Given the description of an element on the screen output the (x, y) to click on. 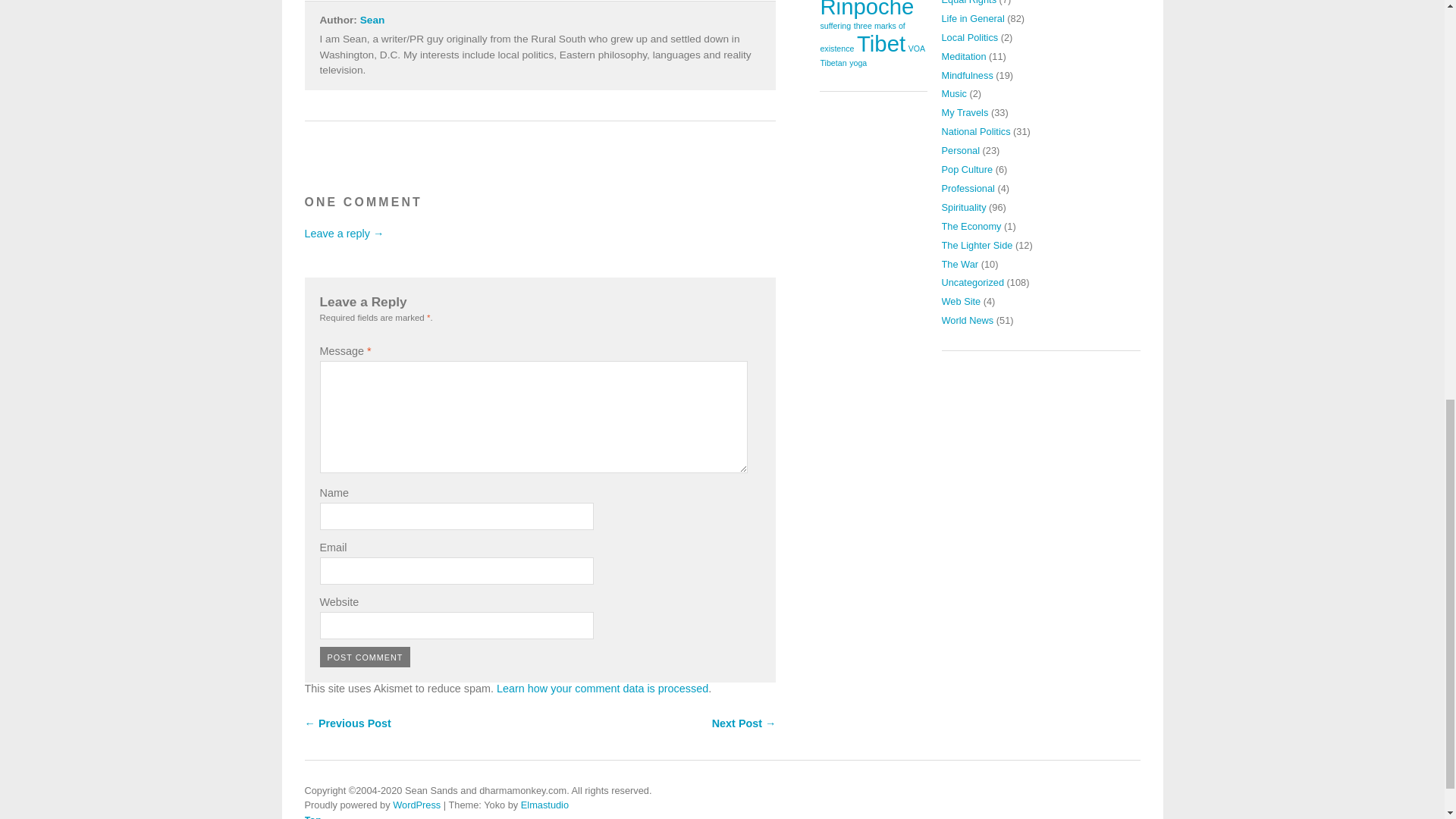
Learn how your comment data is processed (601, 688)
Post Comment (365, 657)
Post Comment (365, 657)
Sean (372, 19)
Sean (372, 19)
